Given the description of an element on the screen output the (x, y) to click on. 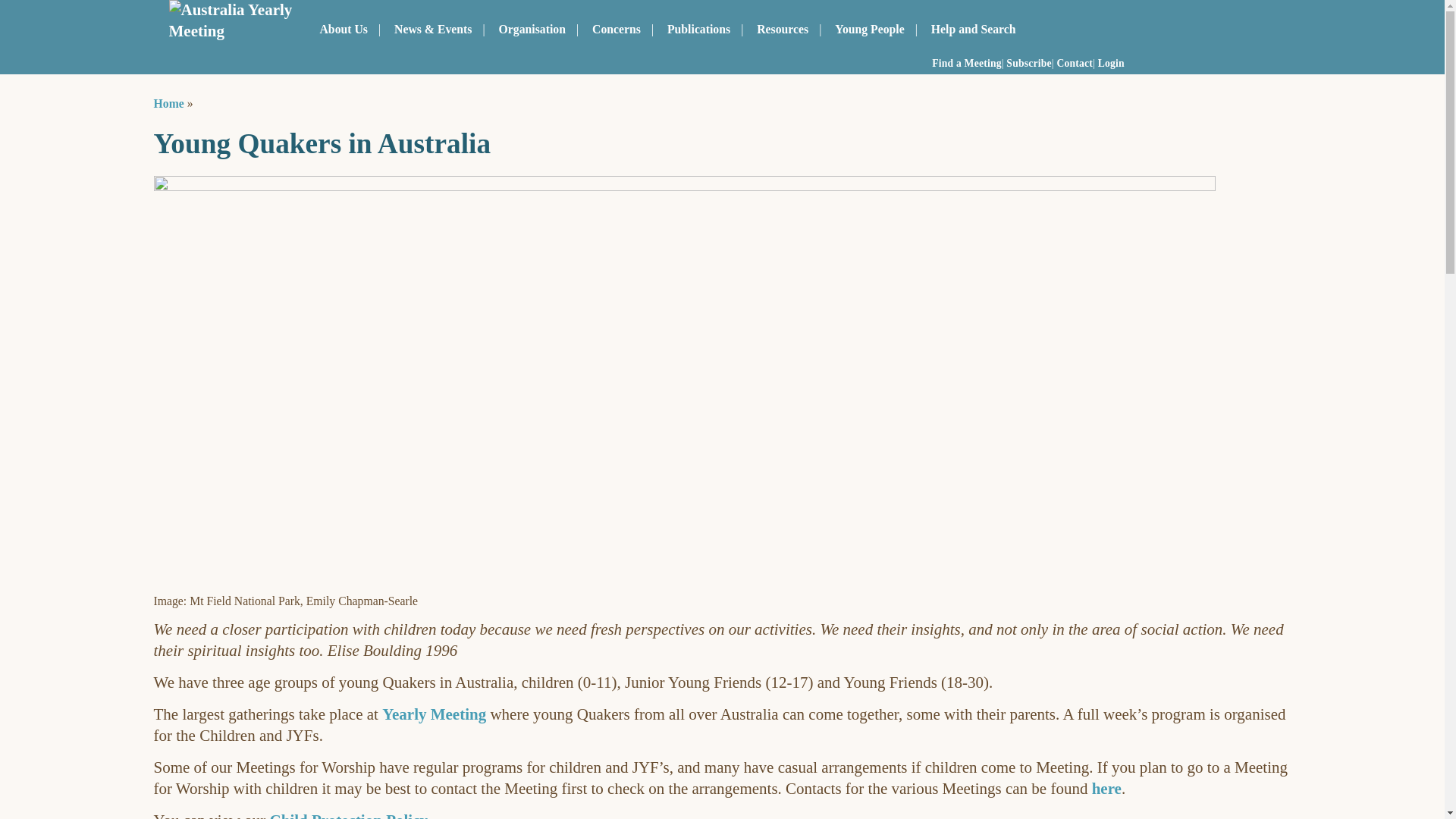
Help (973, 28)
Organisation (531, 28)
Publications (698, 28)
Concerns (615, 28)
About Us (343, 28)
Australia Yearly Meeting (231, 21)
Resources (781, 28)
